Given the description of an element on the screen output the (x, y) to click on. 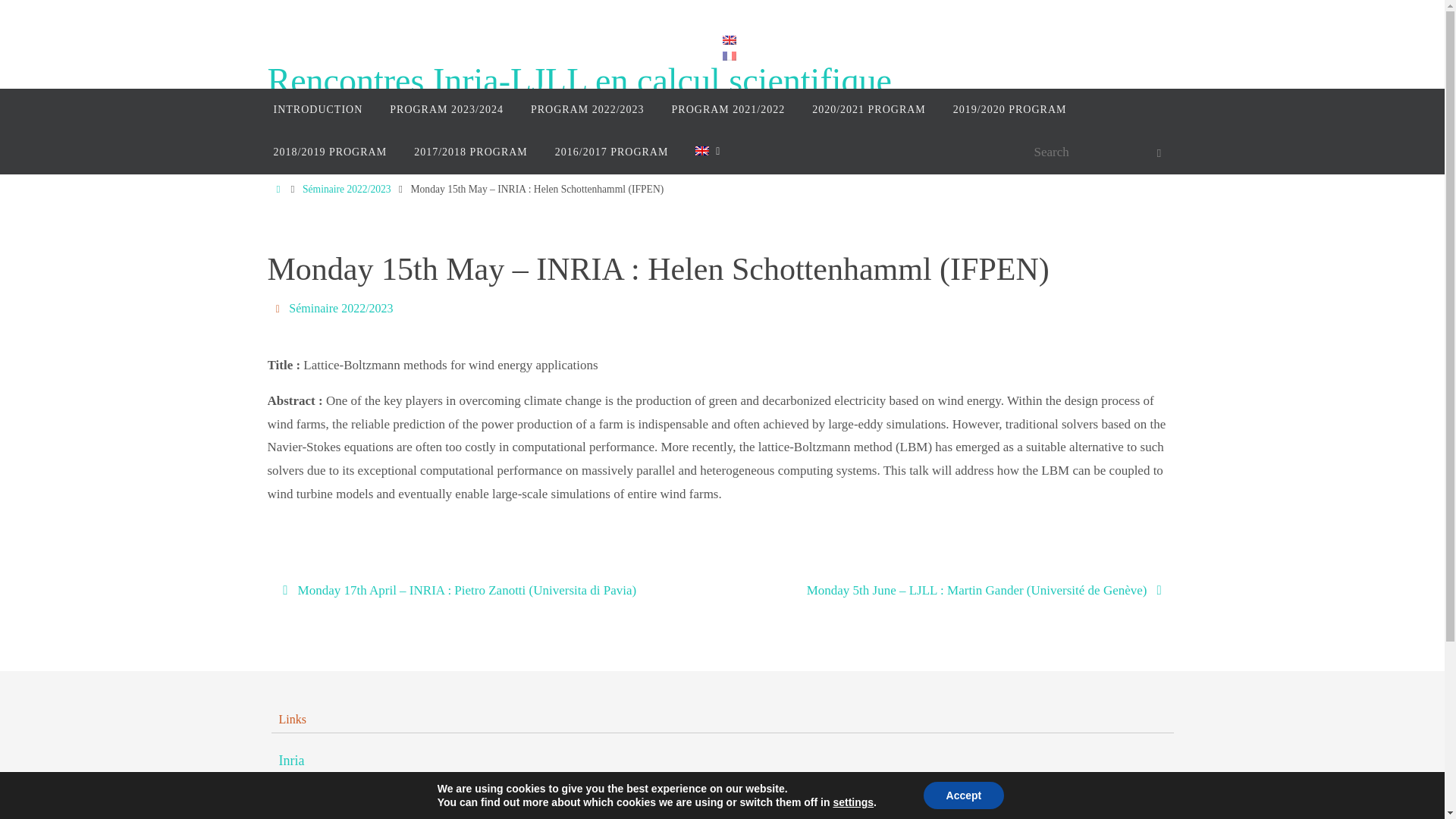
Home (277, 188)
Search (1158, 153)
Rencontres Inria-LJLL en calcul scientifique (578, 81)
Inria (291, 760)
LJLL (293, 791)
settings (852, 802)
Categories (278, 308)
Rencontres Inria-LJLL en calcul scientifique (578, 81)
Accept (963, 795)
INTRODUCTION (317, 109)
